Given the description of an element on the screen output the (x, y) to click on. 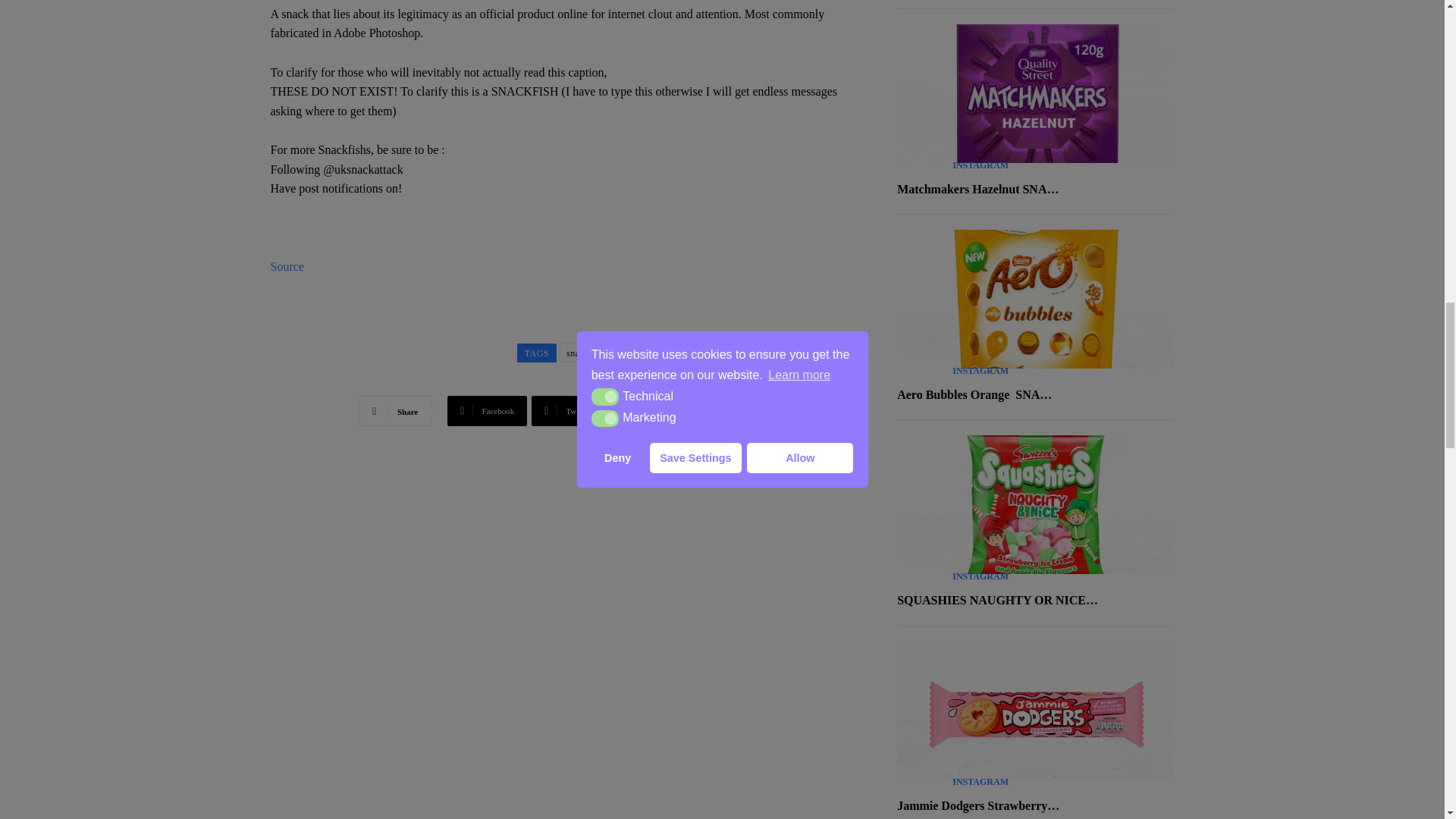
Pinterest (644, 410)
Twitter (566, 410)
WhatsApp (729, 410)
snackfish (585, 352)
Twitter (566, 410)
INSTAGRAM (980, 575)
Pinterest (644, 410)
Facebook (486, 410)
INSTAGRAM (980, 164)
Facebook (486, 410)
Source (285, 266)
INSTAGRAM (980, 370)
